Given the description of an element on the screen output the (x, y) to click on. 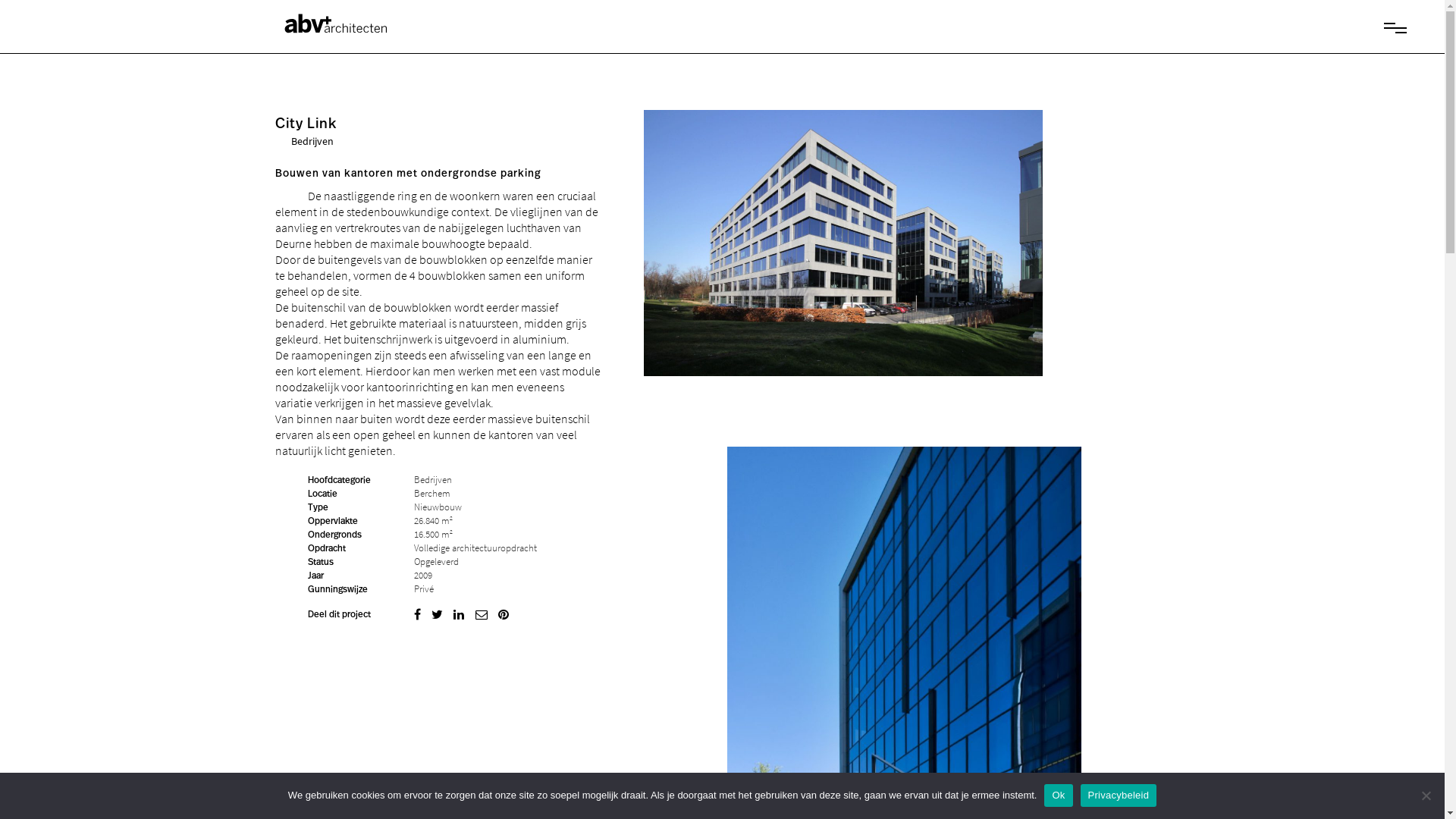
Ok Element type: text (1058, 795)
Nee Element type: hover (1425, 795)
Privacybeleid Element type: text (1118, 795)
